Given the description of an element on the screen output the (x, y) to click on. 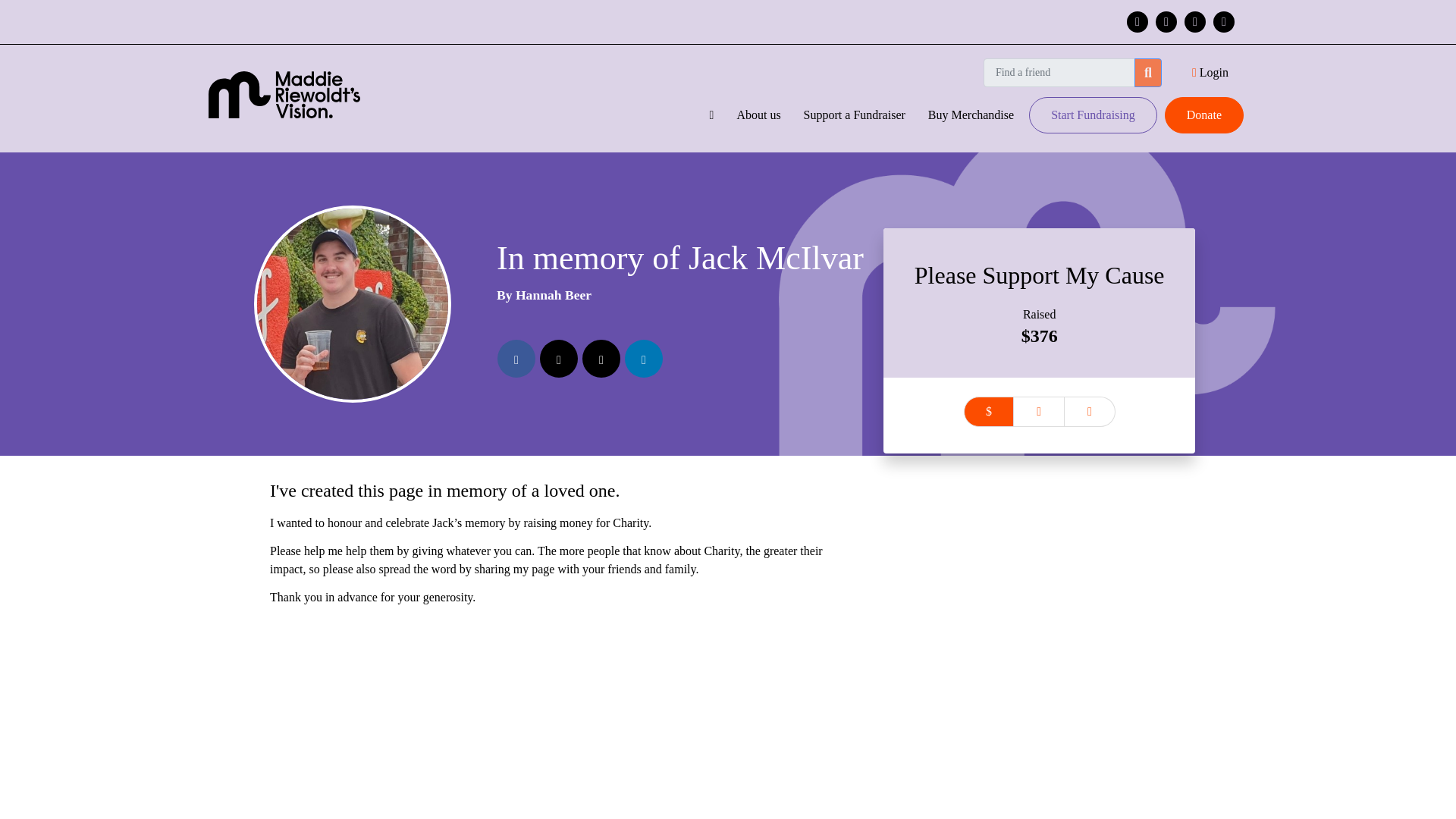
Login (1210, 72)
About us (758, 115)
Donate (1203, 115)
Hannah Beer (553, 294)
Buy Merchandise (971, 115)
Support a Fundraiser (854, 115)
Start Fundraising (1093, 115)
